Given the description of an element on the screen output the (x, y) to click on. 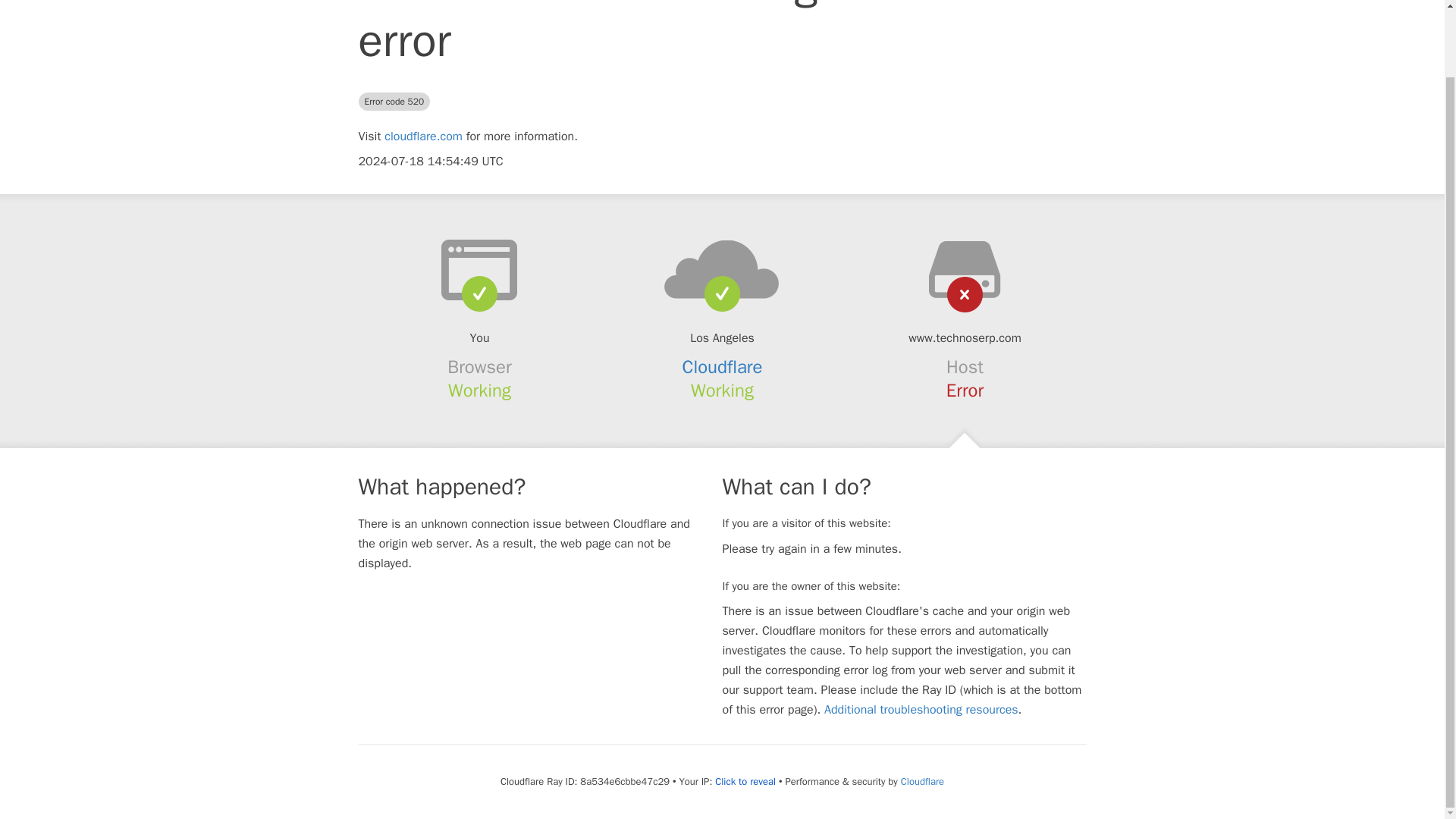
Cloudflare (722, 366)
Cloudflare (922, 780)
cloudflare.com (423, 136)
Additional troubleshooting resources (920, 709)
Click to reveal (745, 781)
